Given the description of an element on the screen output the (x, y) to click on. 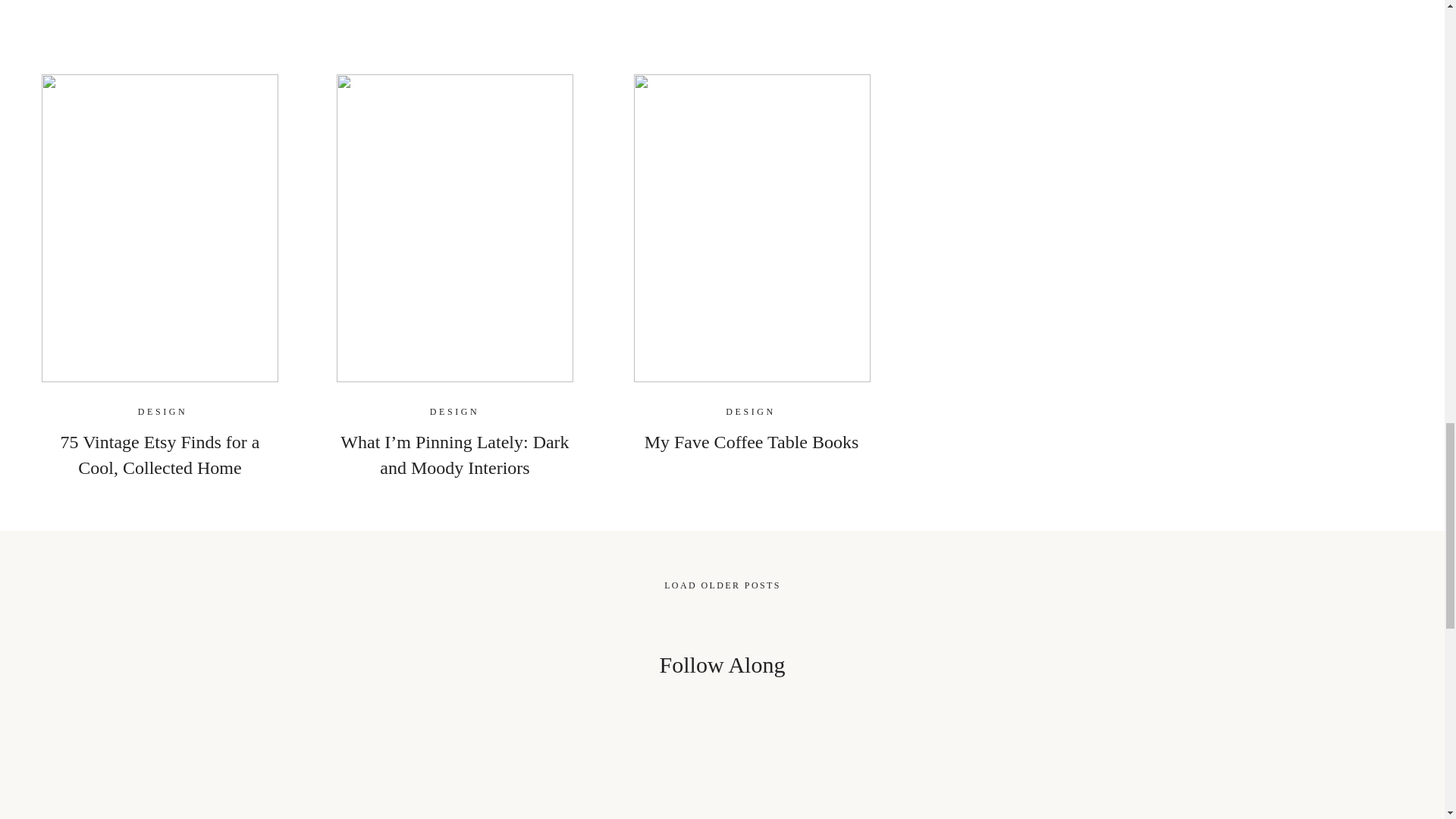
75 Vintage Etsy Finds for a Cool, Collected Home (160, 454)
DESIGN (454, 411)
LOAD OLDER POSTS (721, 584)
My Fave Coffee Table Books (752, 442)
DESIGN (750, 411)
DESIGN (162, 411)
